Given the description of an element on the screen output the (x, y) to click on. 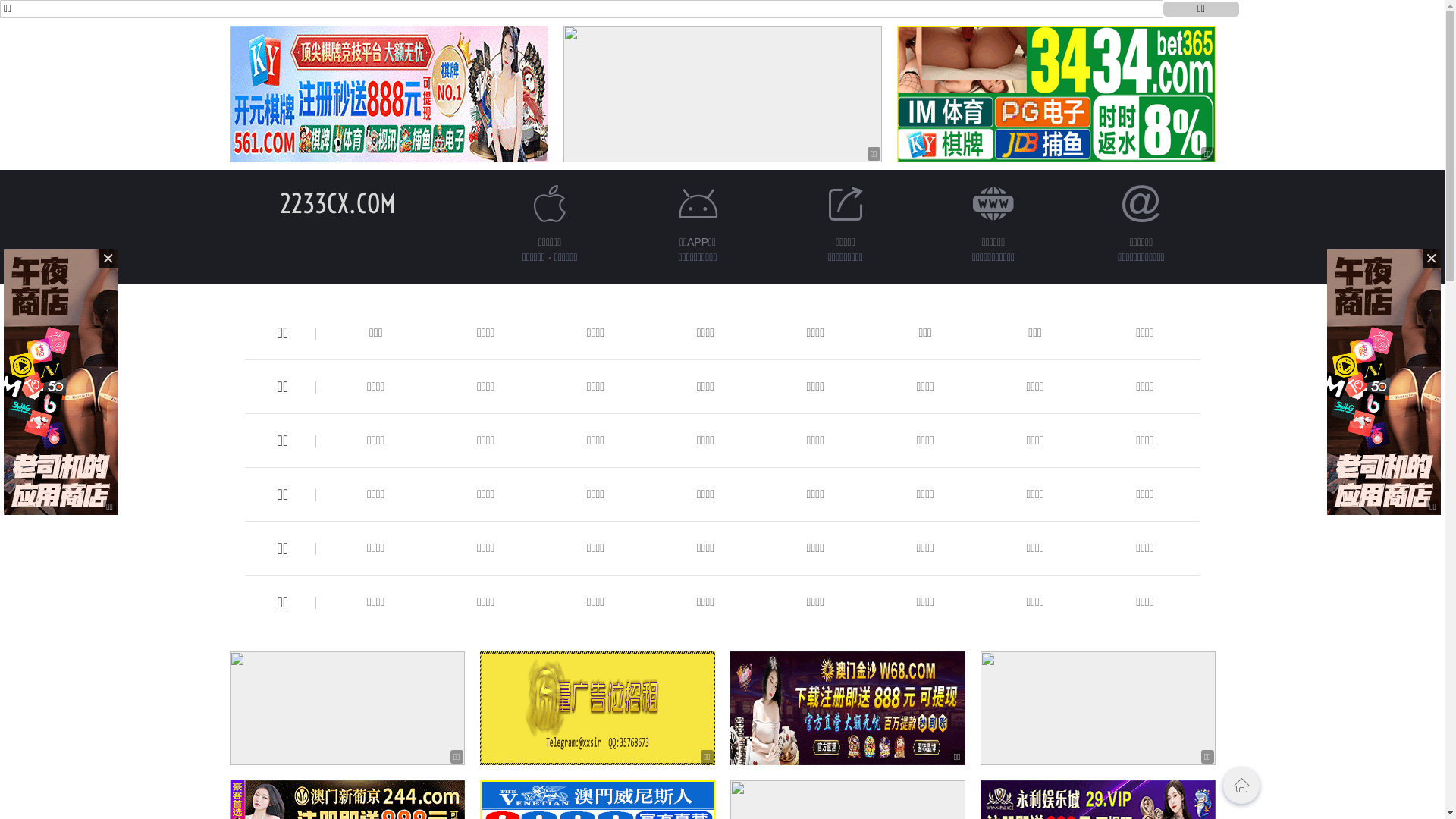
2233CX.COM Element type: text (337, 203)
